Given the description of an element on the screen output the (x, y) to click on. 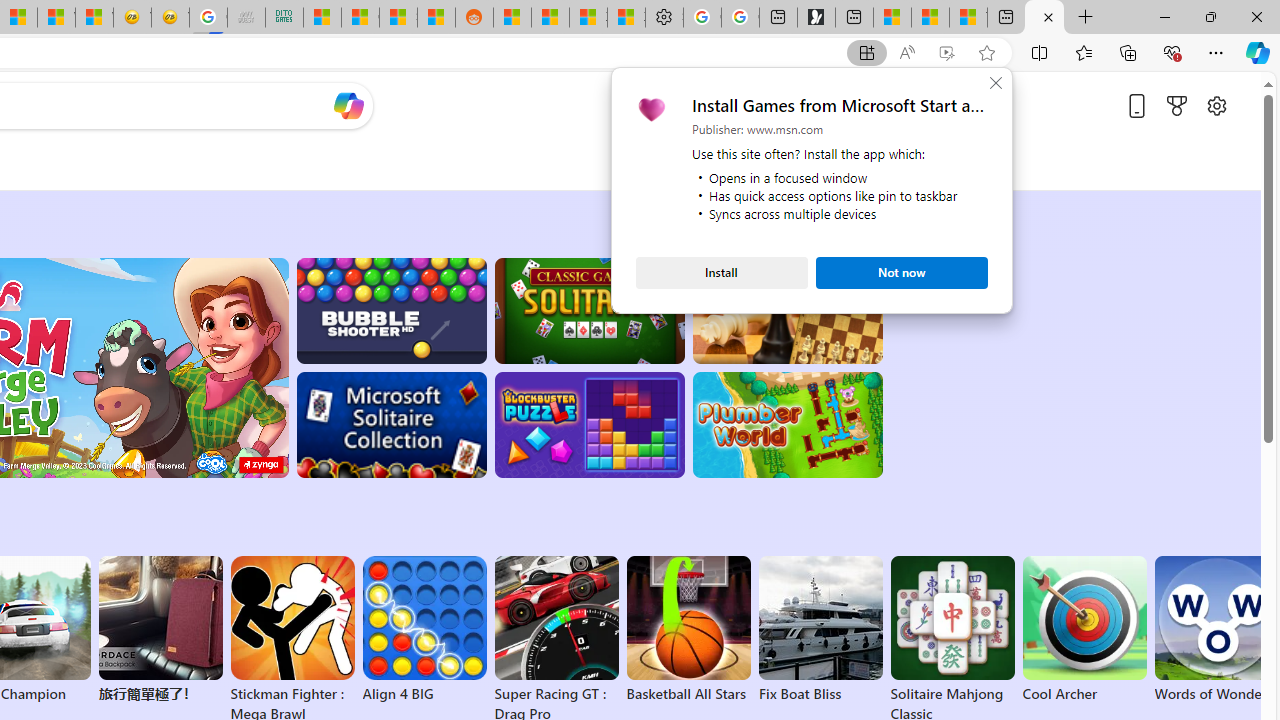
Words of Wonders (1216, 629)
R******* | Trusted Community Engagement and Contributions (512, 17)
Fix Boat Bliss (820, 694)
Plumber World (787, 425)
Bubble Shooter HD (390, 310)
